Given the description of an element on the screen output the (x, y) to click on. 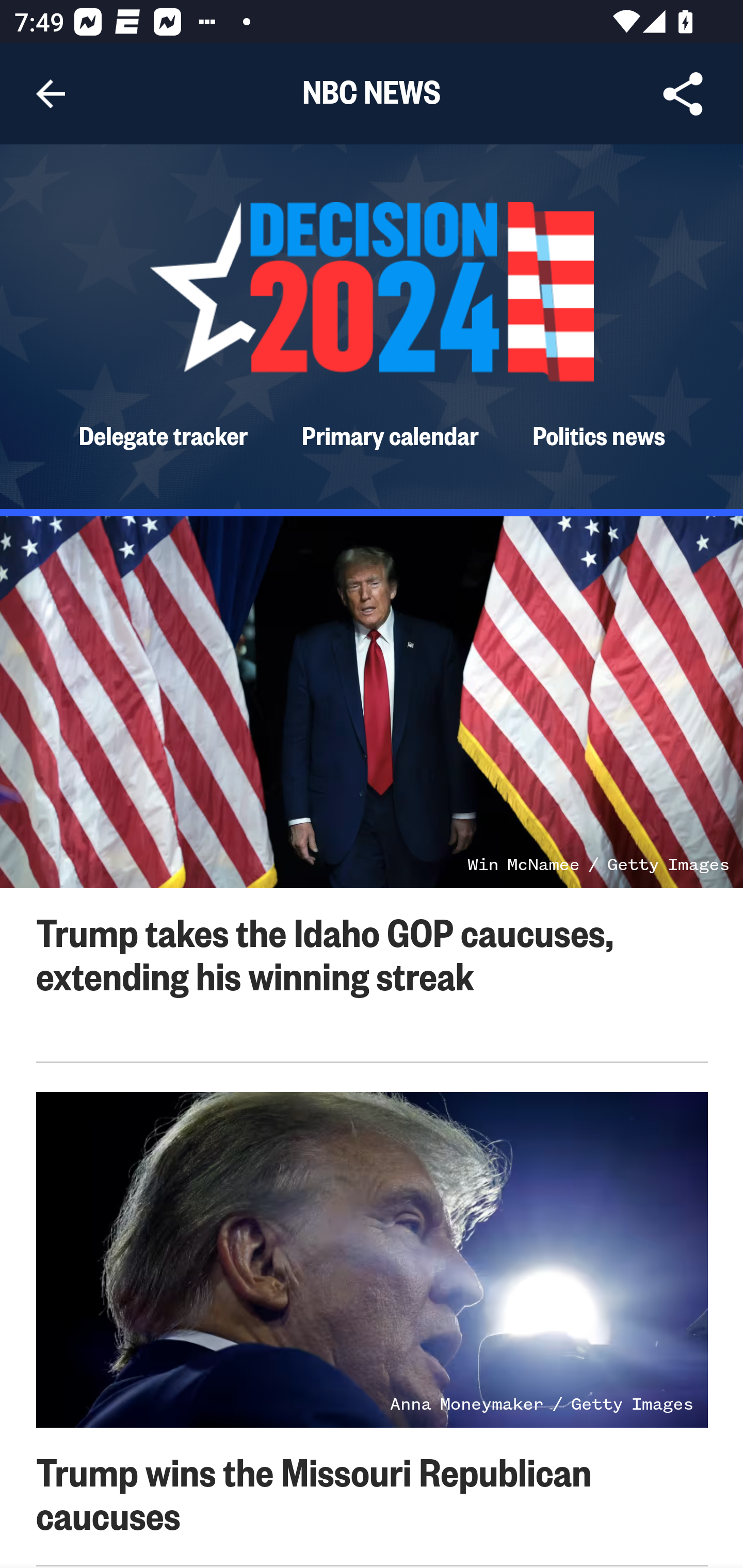
Navigate up (50, 93)
Share Article, button (683, 94)
Delegate tracker (162, 434)
Primary calendar (390, 434)
Politics news (598, 434)
Trump wins the Missouri Republican caucuses (314, 1491)
